Given the description of an element on the screen output the (x, y) to click on. 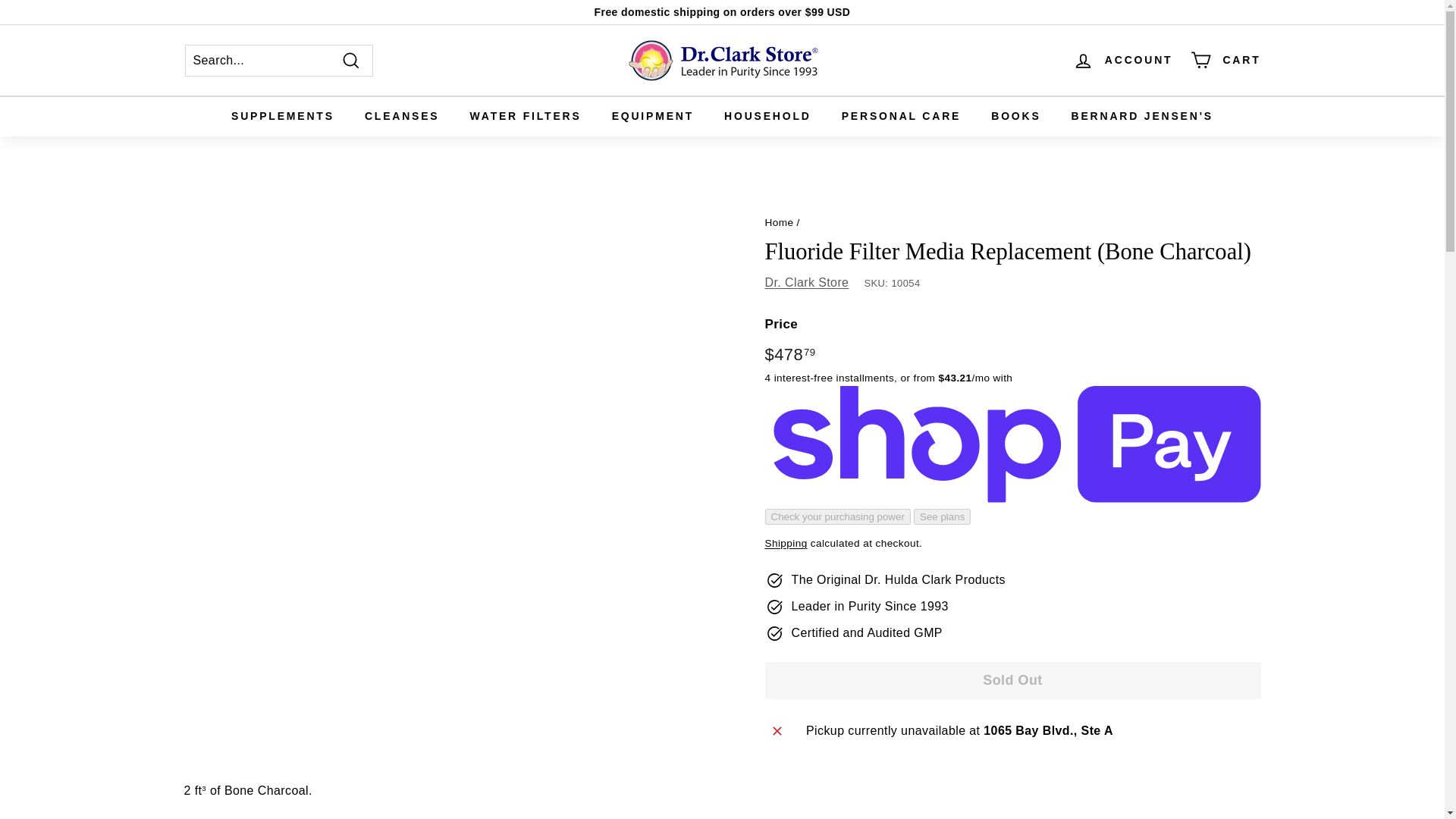
SUPPLEMENTS (282, 116)
WATER FILTERS (525, 116)
ACCOUNT (1123, 59)
CLEANSES (401, 116)
HOUSEHOLD (768, 116)
EQUIPMENT (652, 116)
PERSONAL CARE (901, 116)
Back to the frontpage (778, 222)
